Given the description of an element on the screen output the (x, y) to click on. 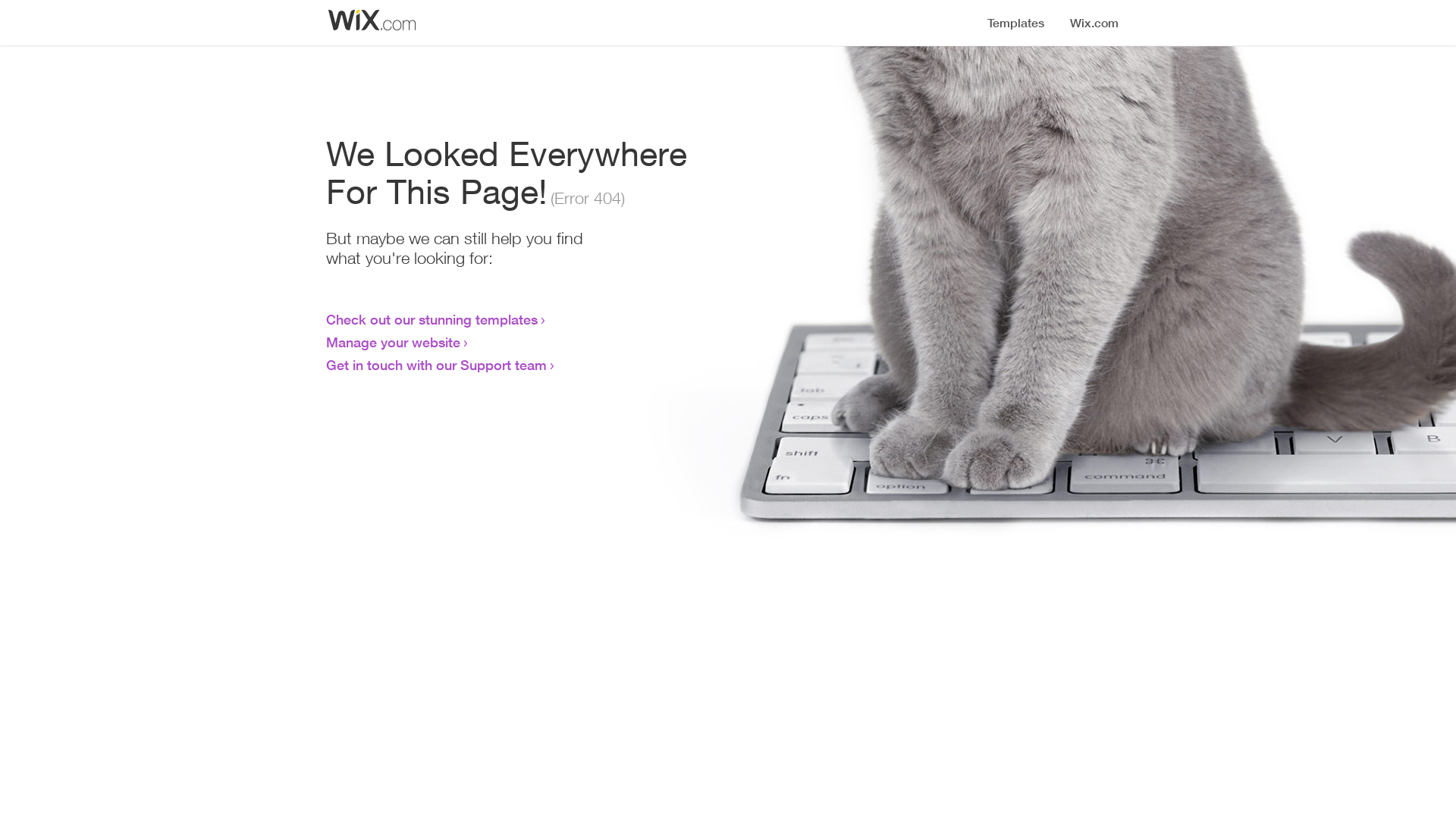
Manage your website Element type: text (393, 341)
Check out our stunning templates Element type: text (431, 318)
Get in touch with our Support team Element type: text (436, 364)
